Given the description of an element on the screen output the (x, y) to click on. 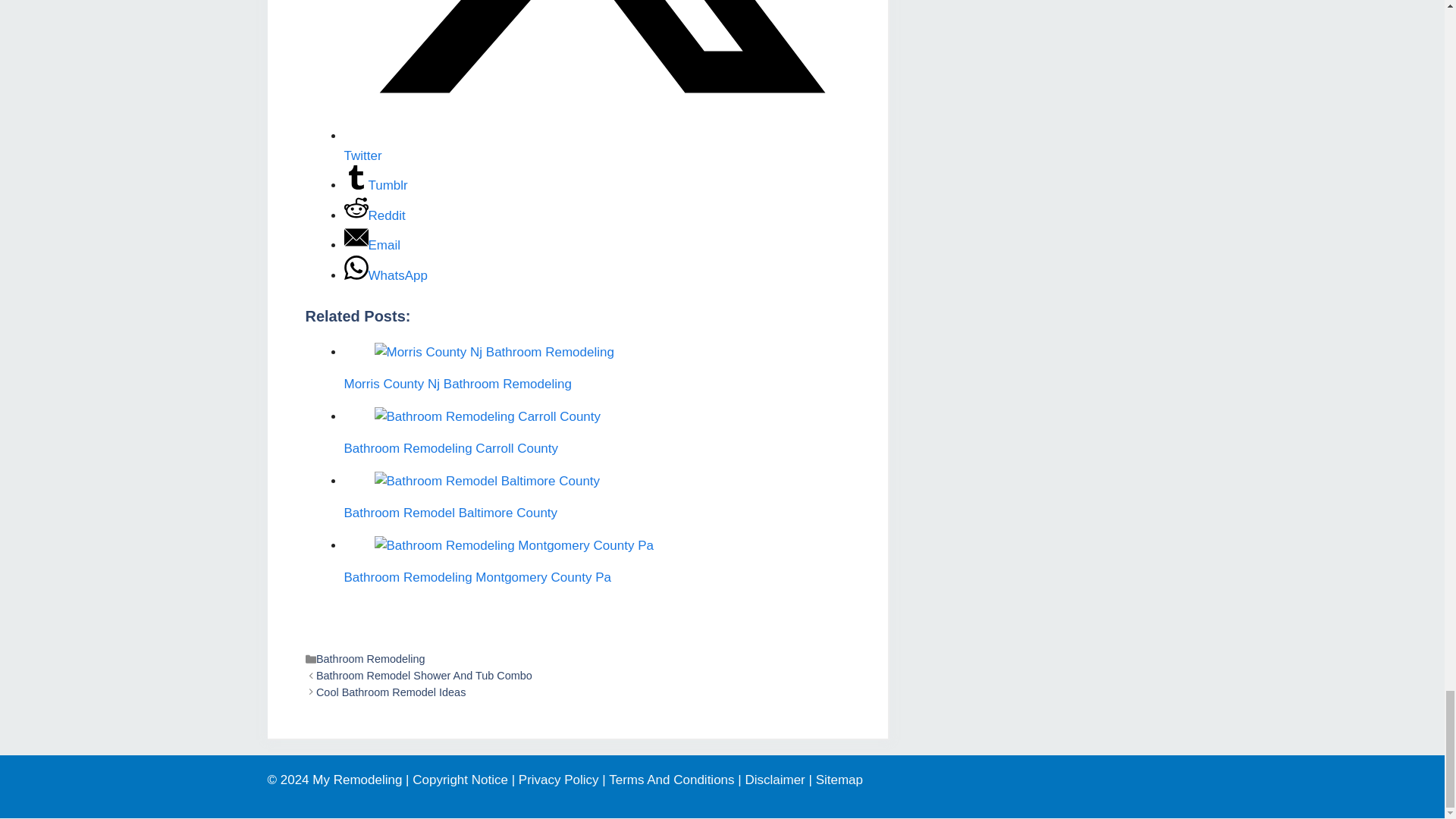
Share on Reddit (645, 415)
Facebook (335, 348)
Pinterest (370, 348)
Bathroom Remodel Monmouth County Nj 2 (366, 245)
Share on Tumblr (581, 415)
Share on Twitter (516, 415)
Share on Facebook (373, 415)
Share on WhatsApp (776, 415)
Share on Email (707, 415)
Share on Pinterest (448, 415)
